Given the description of an element on the screen output the (x, y) to click on. 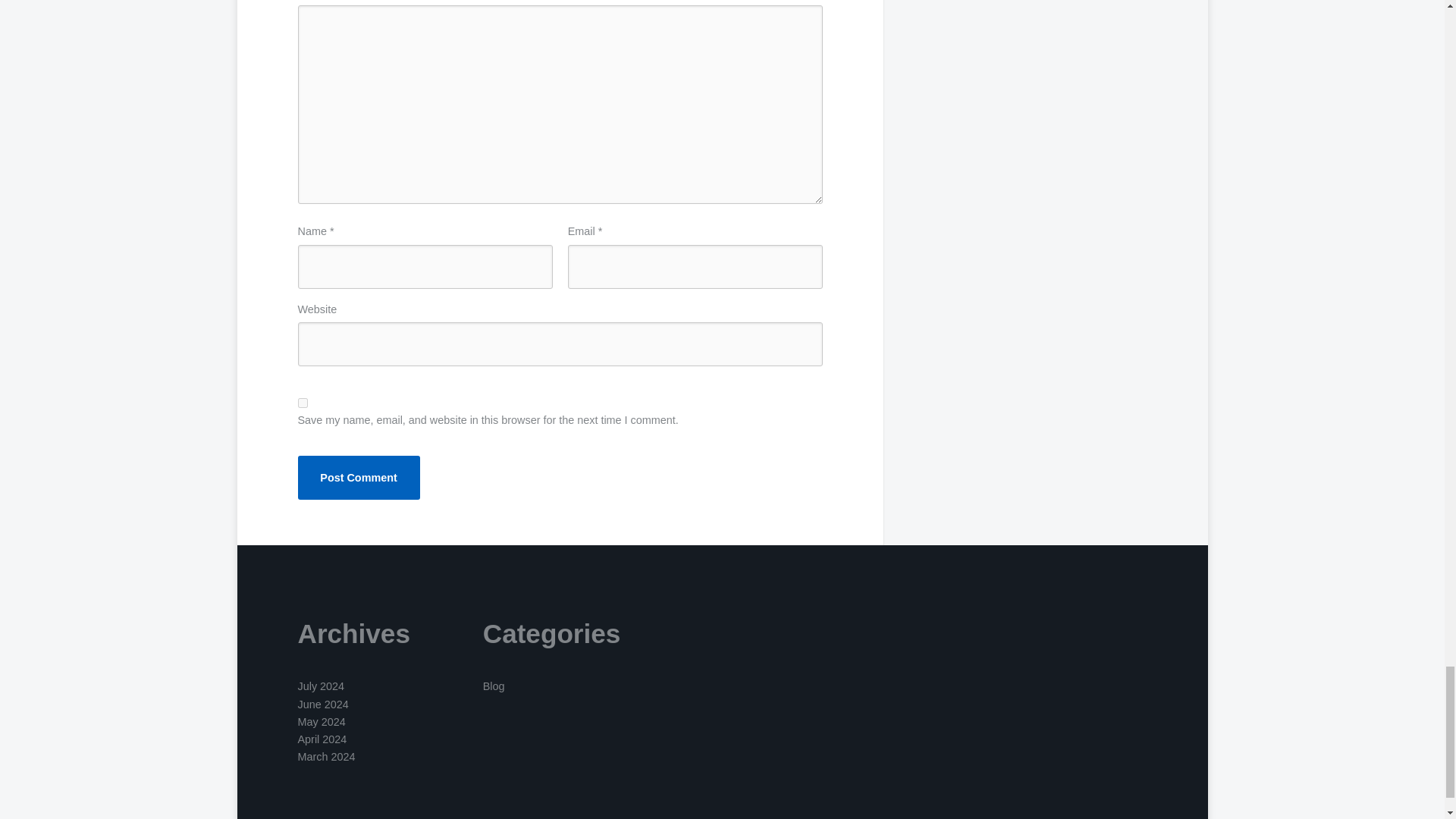
yes (302, 402)
Post Comment (358, 477)
Post Comment (358, 477)
